Given the description of an element on the screen output the (x, y) to click on. 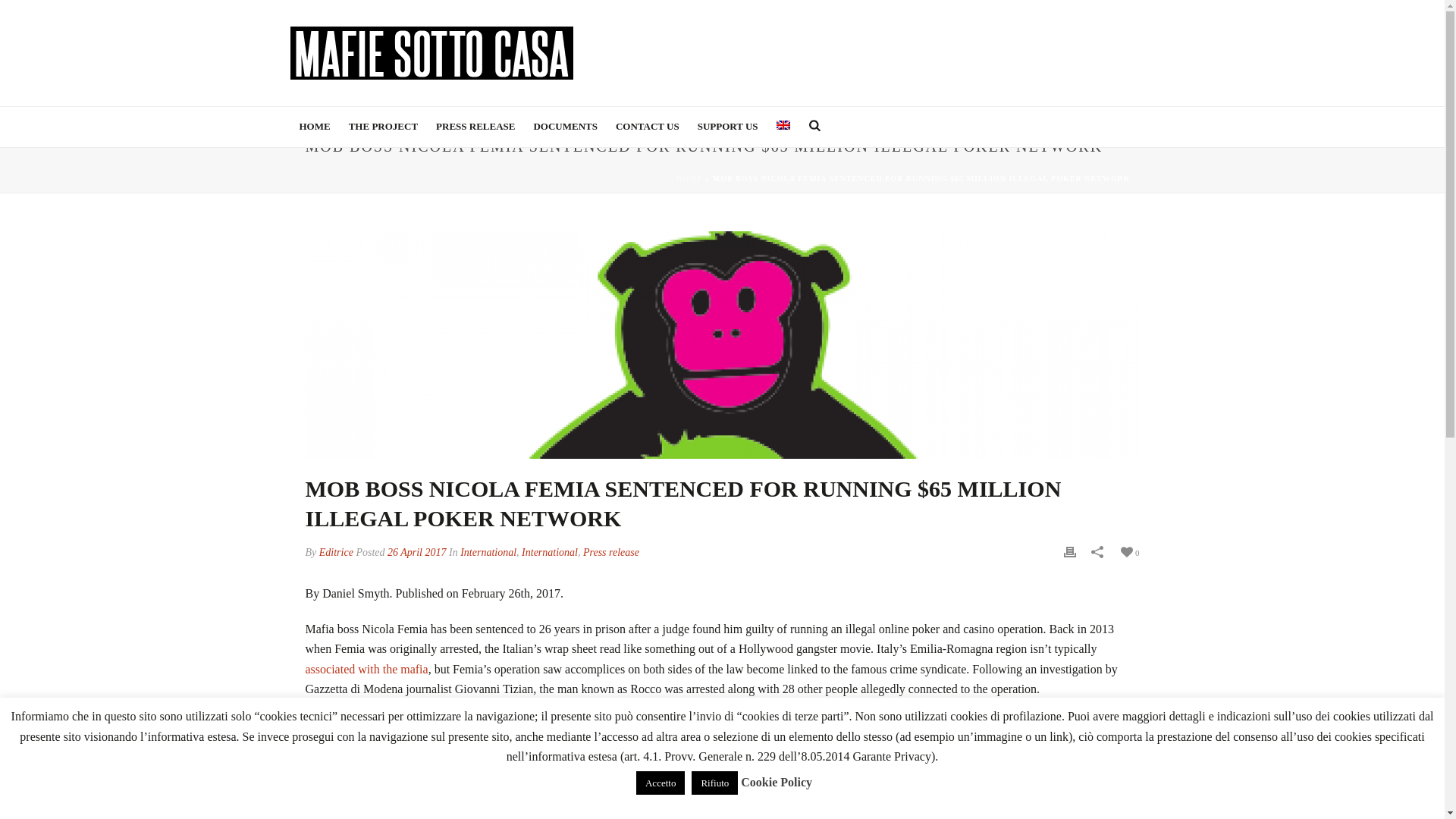
SUPPORT US (727, 127)
Posts by Editrice (335, 552)
Gambling (451, 804)
London (547, 804)
DOCUMENTS (565, 127)
  0 (1129, 552)
CONTACT US (647, 127)
HOME (689, 178)
Illegal Poker (502, 804)
